Given the description of an element on the screen output the (x, y) to click on. 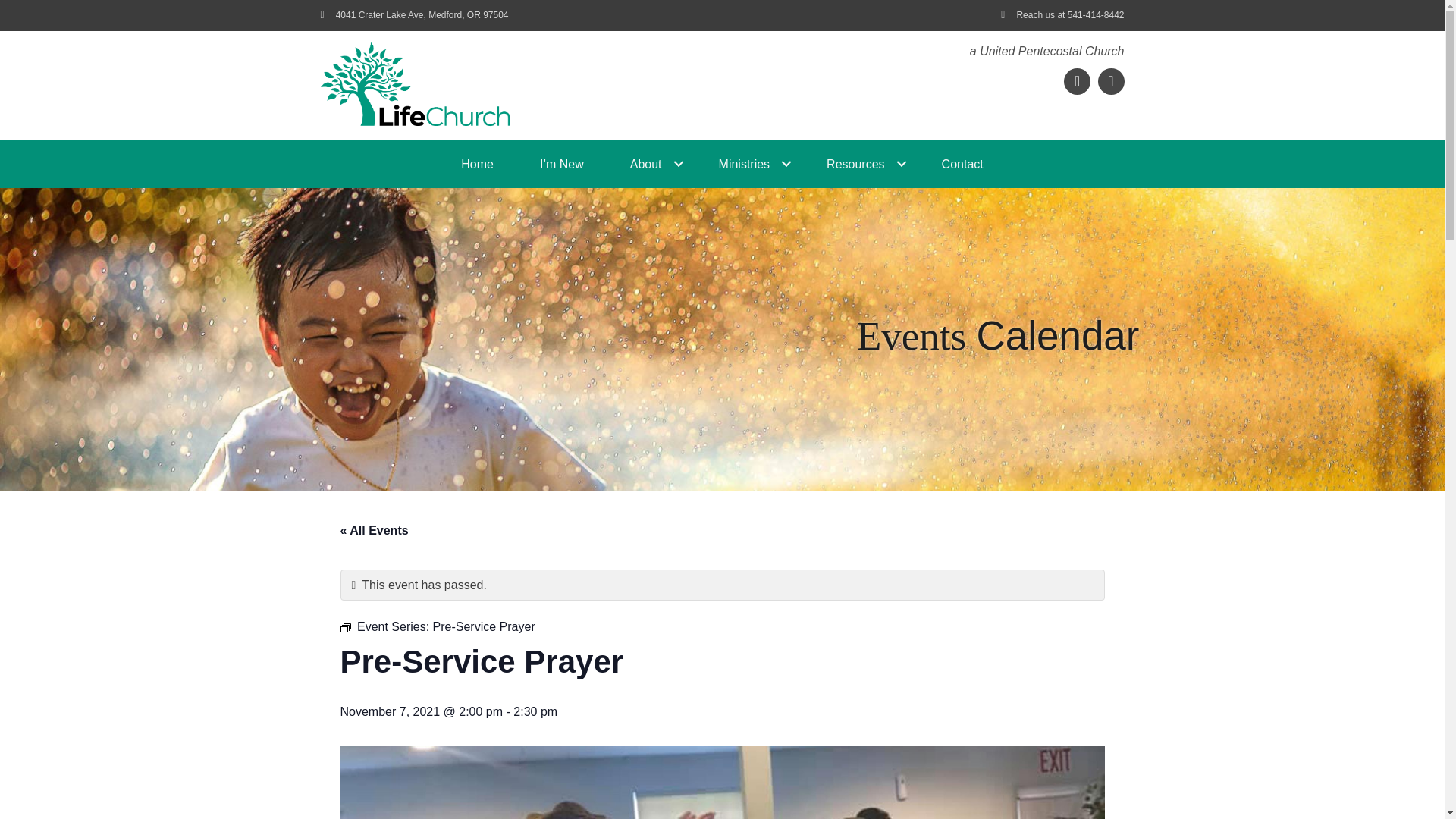
Home (477, 164)
Ministries (749, 164)
Pre-Service Prayer (483, 626)
Resources (860, 164)
Event Series (344, 627)
About (651, 164)
Event Series: (344, 627)
Contact (962, 164)
